Given the description of an element on the screen output the (x, y) to click on. 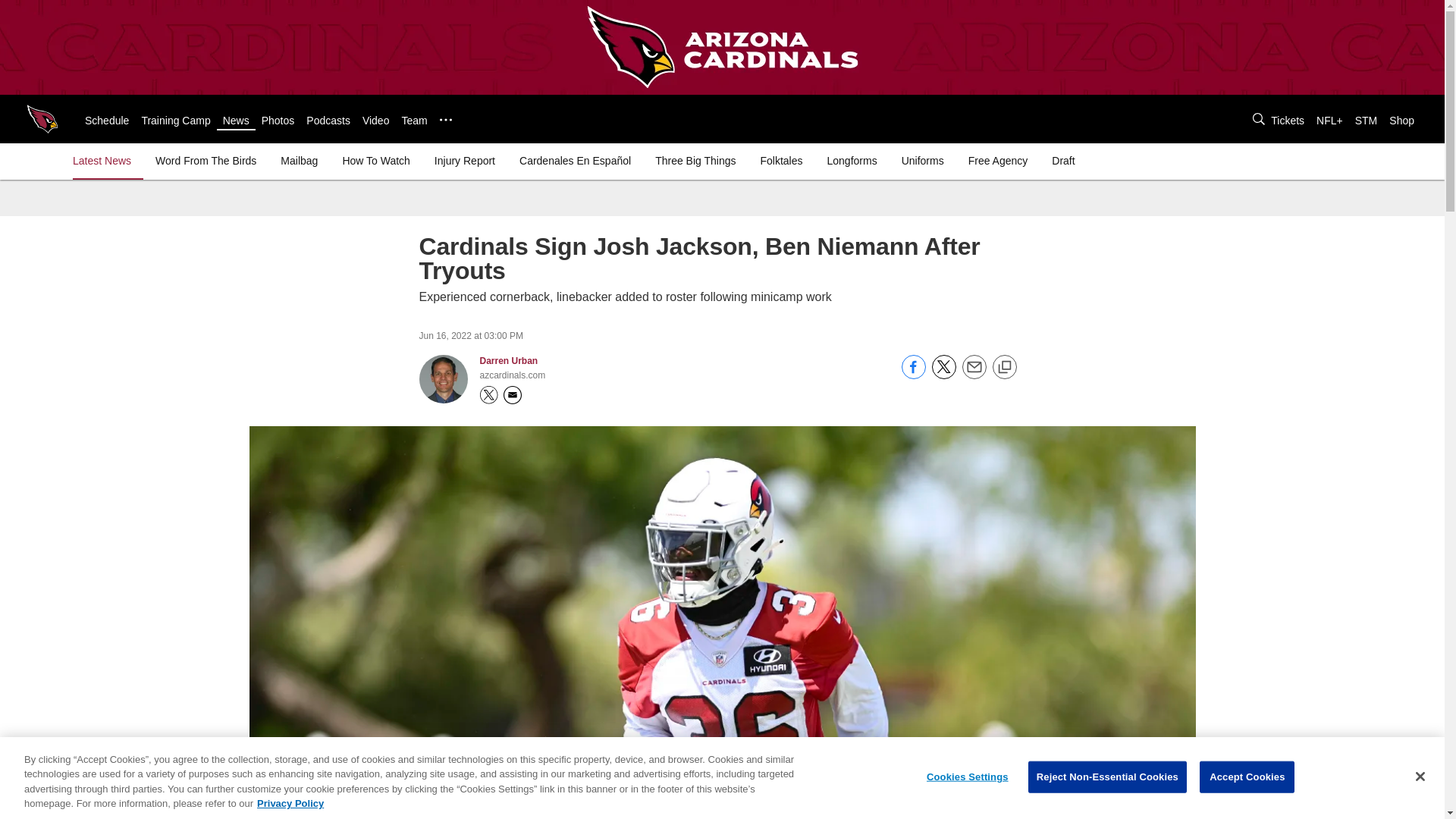
Training Camp (175, 120)
News (235, 120)
Team (413, 120)
Mailbag (299, 160)
Photos (278, 120)
Training Camp (175, 120)
Photos (278, 120)
Three Big Things (695, 160)
Podcasts (327, 120)
Tickets (1287, 120)
Shop (1401, 120)
... (445, 119)
Injury Report (464, 160)
Link to club's homepage (42, 118)
STM (1366, 120)
